Given the description of an element on the screen output the (x, y) to click on. 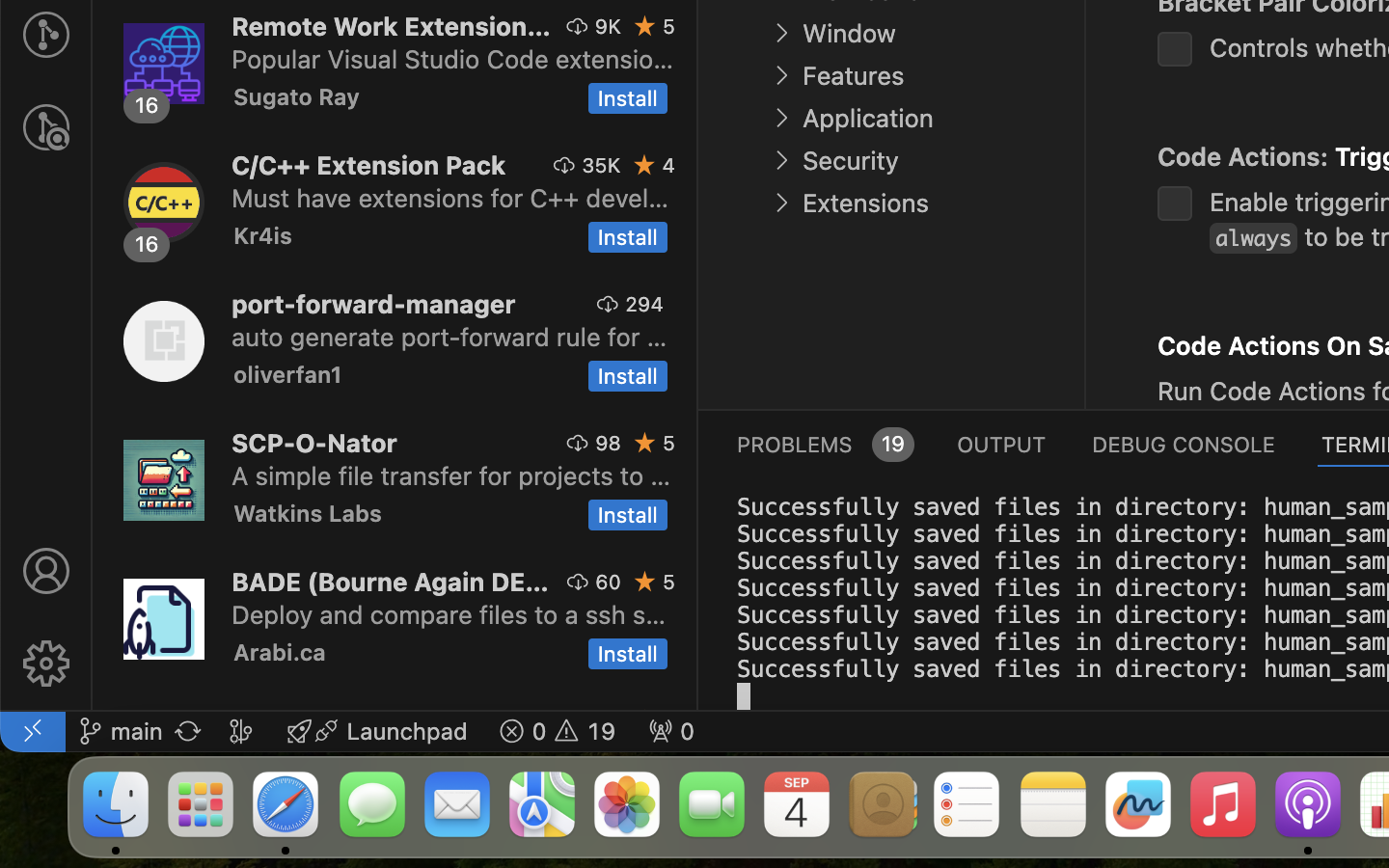
port-forward-manager Element type: AXStaticText (374, 303)
auto generate port-forward rule for your vscode ssh connection. Element type: AXStaticText (449, 336)
